Given the description of an element on the screen output the (x, y) to click on. 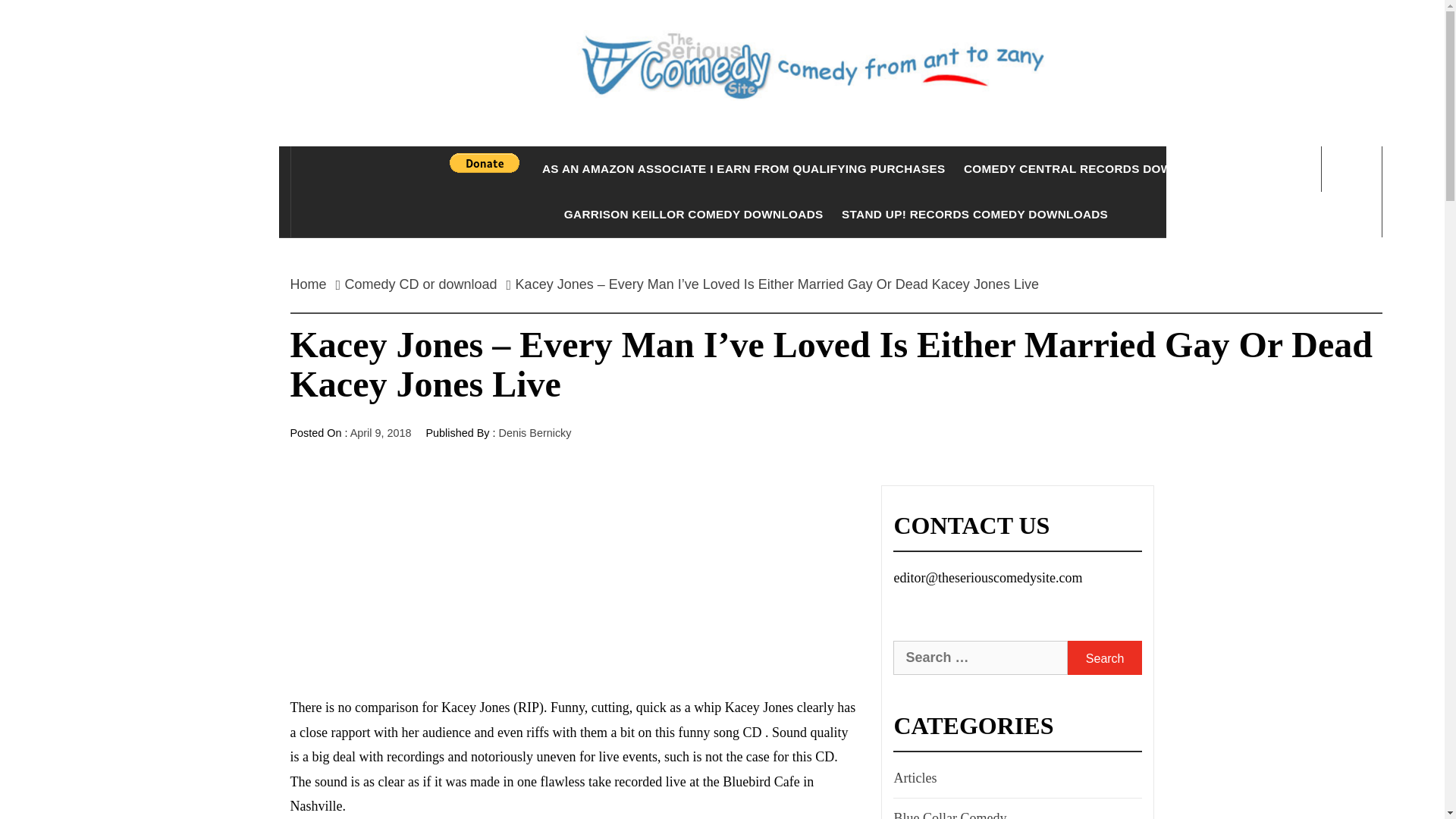
GARRISON KEILLOR COMEDY DOWNLOADS (693, 214)
Search (1104, 657)
THE SERIOUS COMEDY SITE (836, 164)
Search (797, 37)
AS AN AMAZON ASSOCIATE I EARN FROM QUALIFYING PURCHASES (743, 168)
Articles (912, 777)
Denis Bernicky (535, 432)
Search (1104, 657)
PayPal - The safer, easier way to pay online! (484, 162)
April 9, 2018 (381, 432)
